Given the description of an element on the screen output the (x, y) to click on. 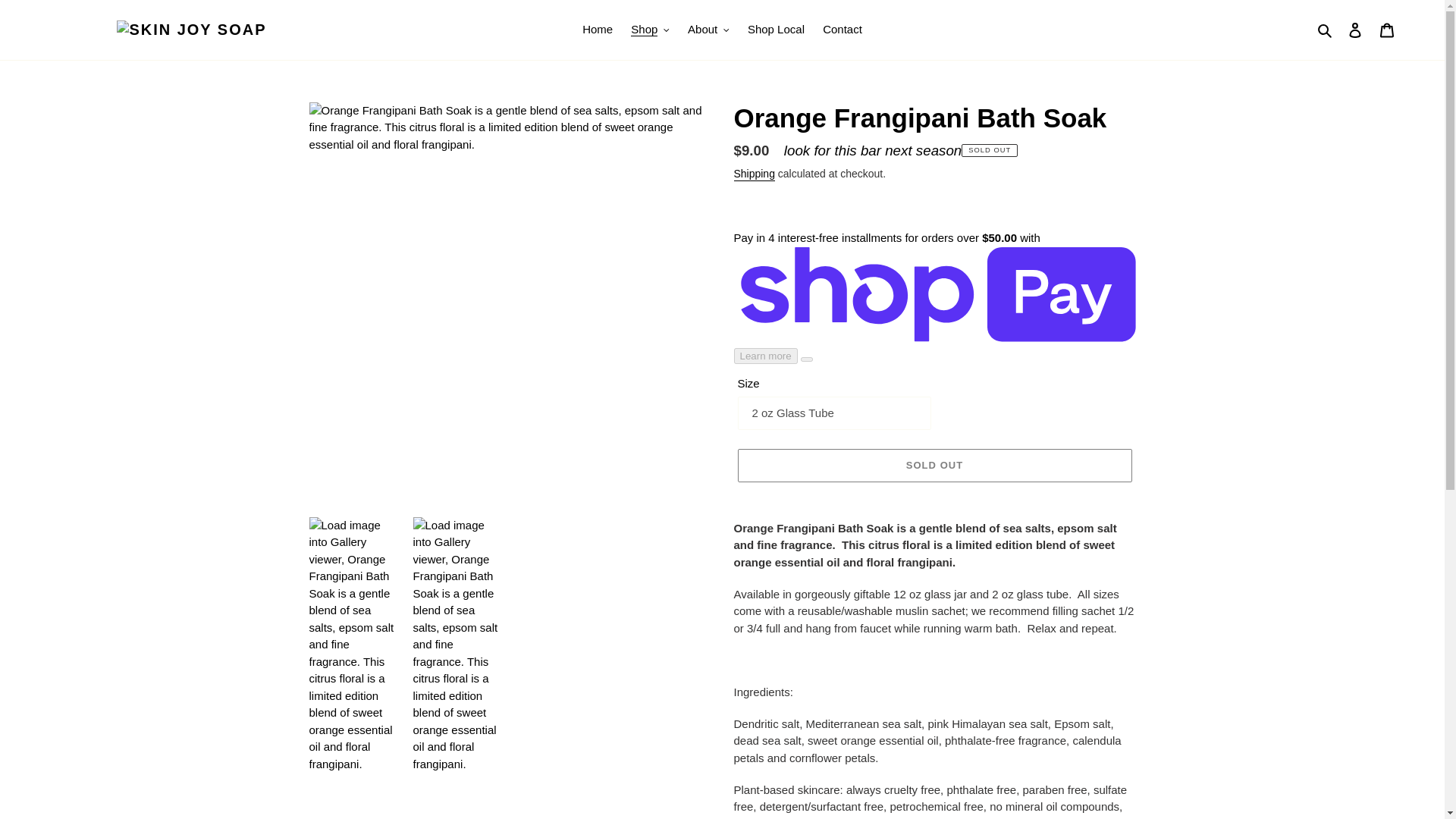
Contact (842, 29)
Log in (1355, 29)
Shop Local (775, 29)
About (707, 29)
Home (597, 29)
Search (1326, 29)
Cart (1387, 29)
Shop (650, 29)
